Given the description of an element on the screen output the (x, y) to click on. 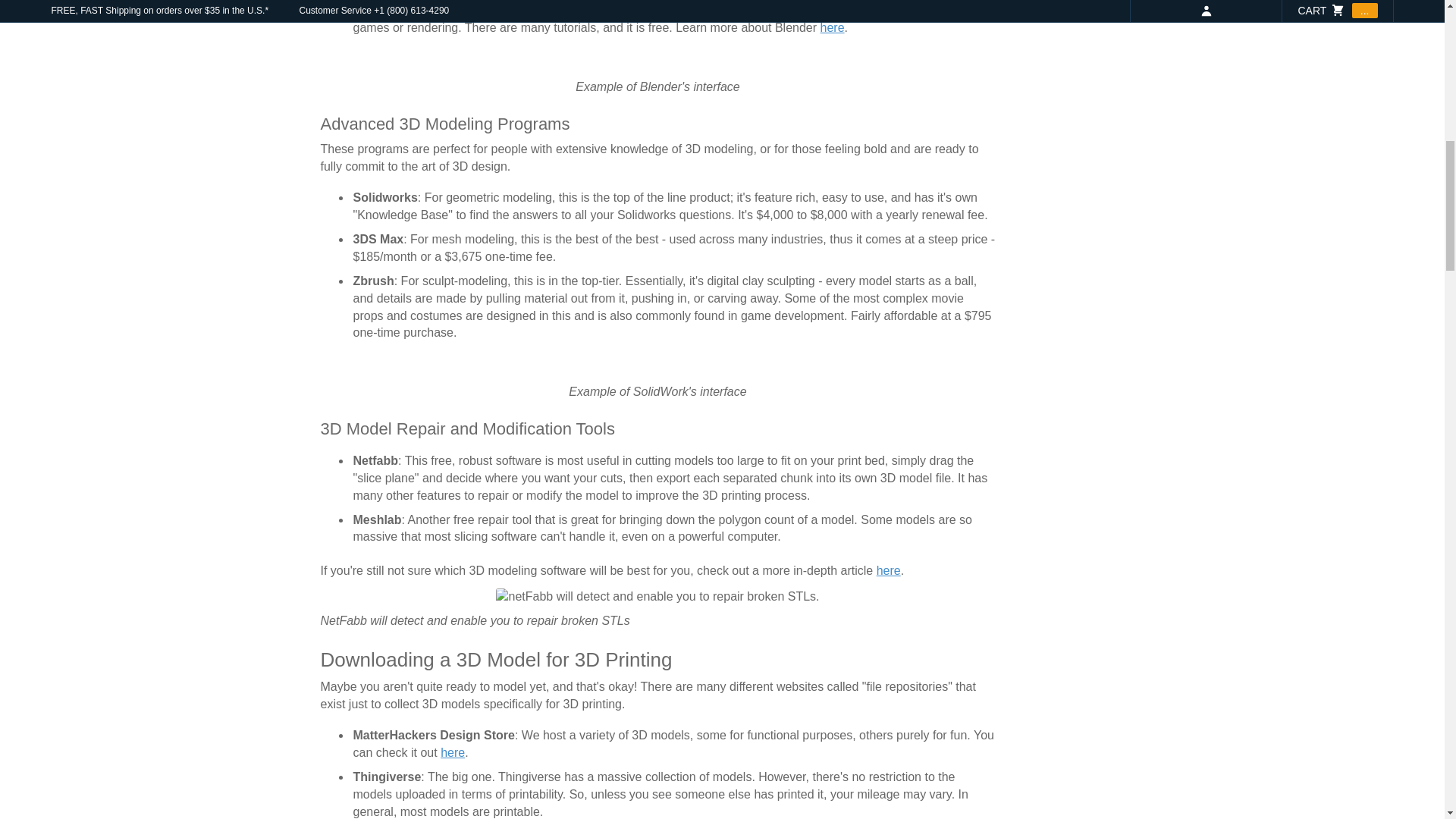
netFabb will detect and enable you to repair broken STLs. (657, 597)
